Given the description of an element on the screen output the (x, y) to click on. 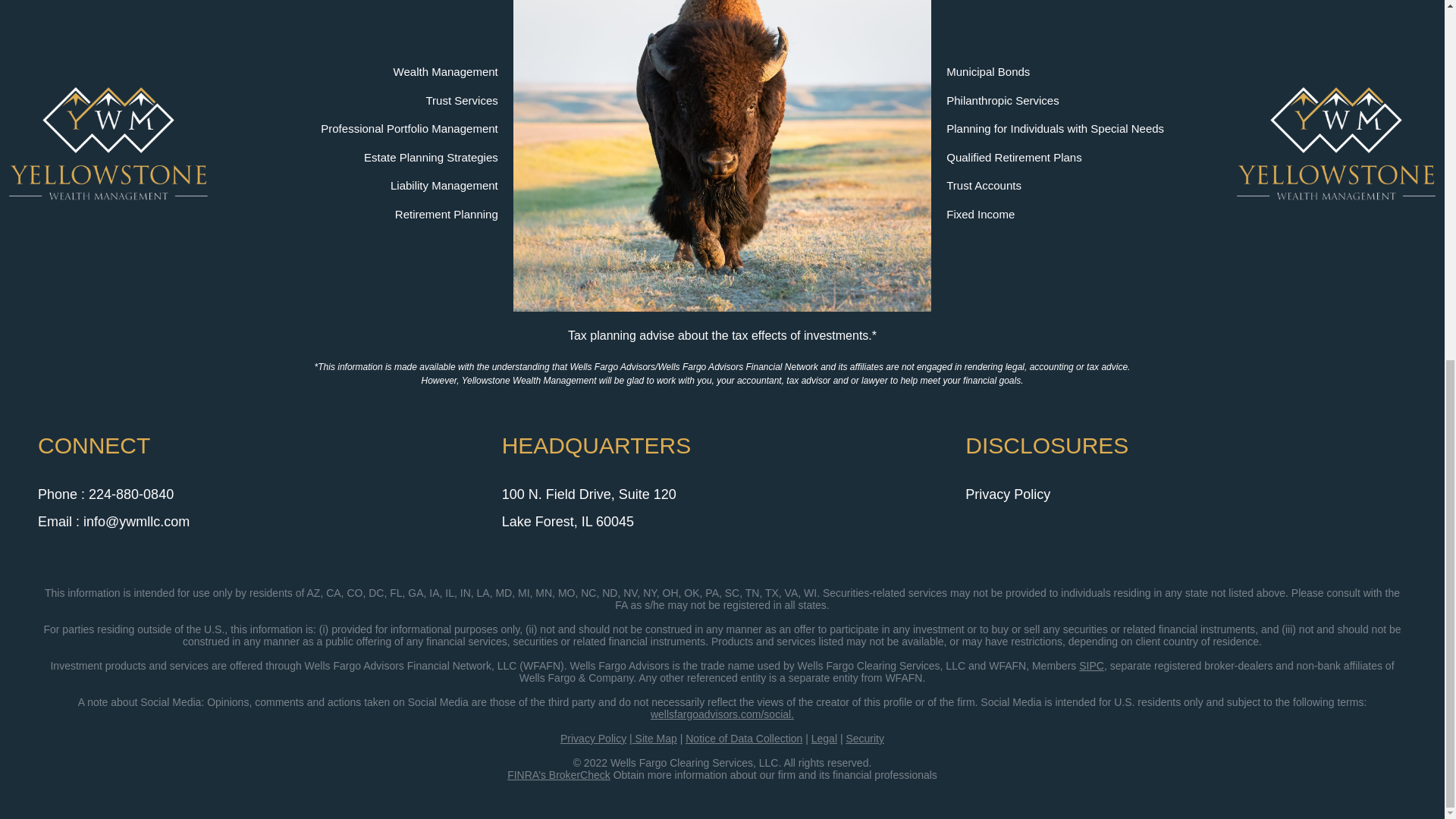
Notice of Data Collection (743, 731)
Privacy Policy (1007, 494)
Privacy Policy (593, 731)
Security (864, 731)
Site Map (654, 731)
SIPC (1090, 658)
Phone : 224-880-0840 (105, 494)
Legal (823, 731)
